Given the description of an element on the screen output the (x, y) to click on. 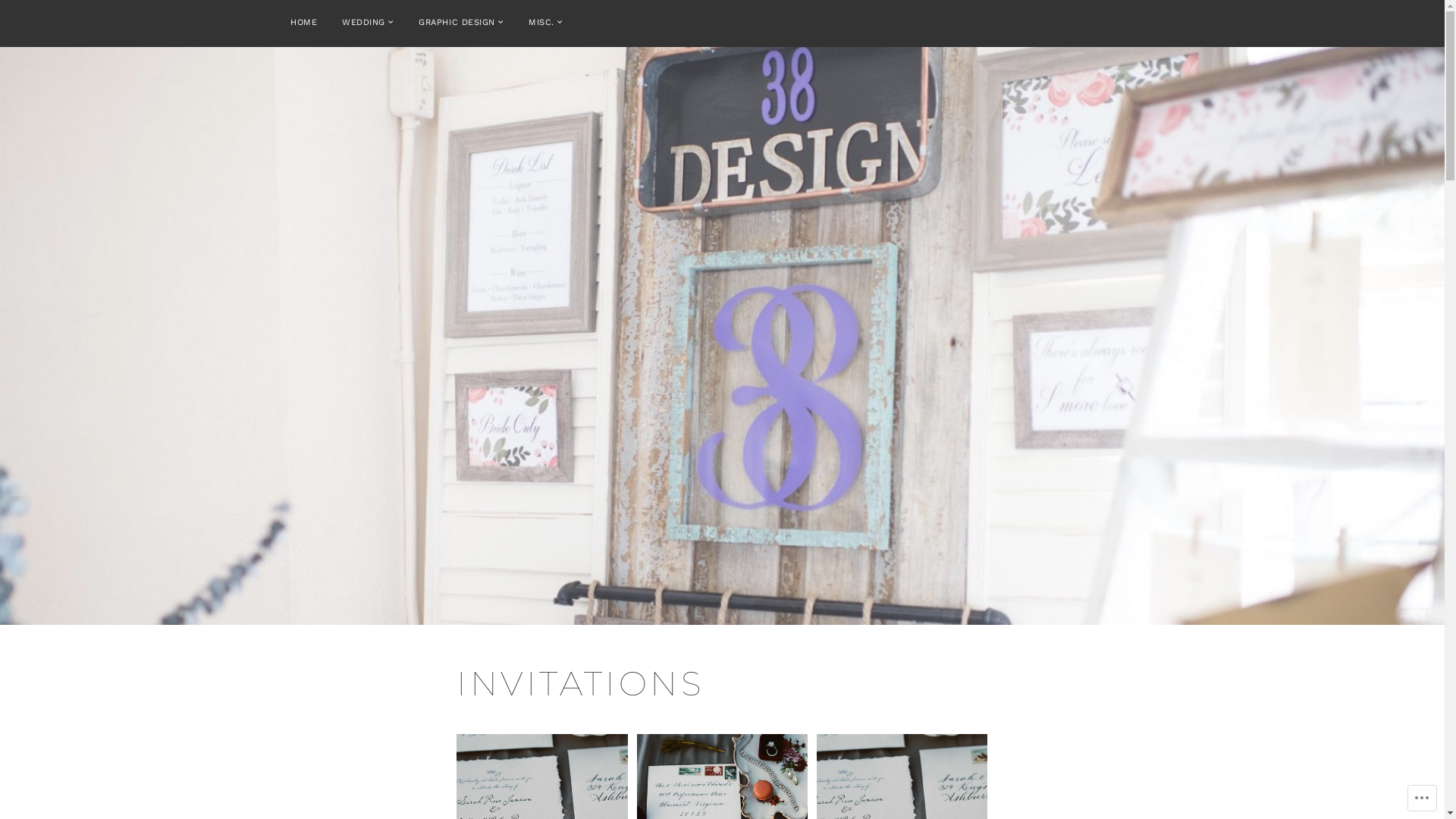
HOME Element type: text (303, 22)
38 DESIGN Element type: text (852, 424)
MISC. Element type: text (545, 22)
WEDDING Element type: text (367, 22)
GRAPHIC DESIGN Element type: text (460, 22)
